Given the description of an element on the screen output the (x, y) to click on. 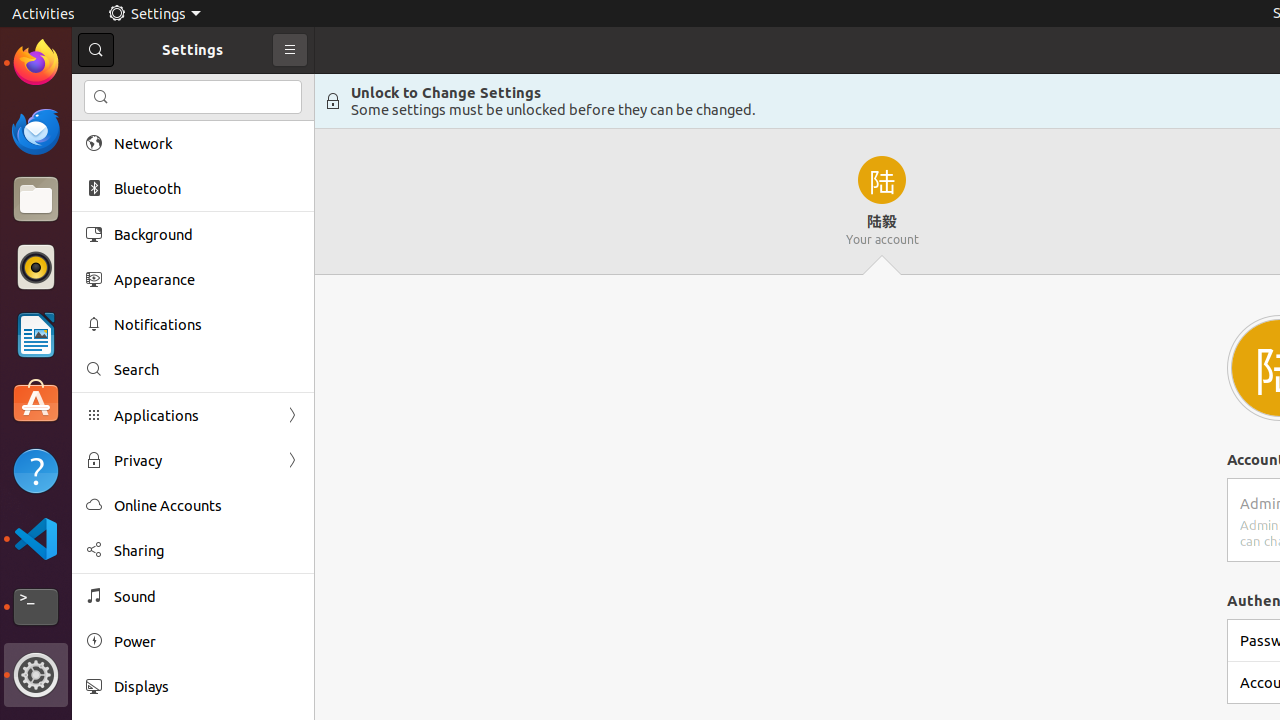
Applications Element type: label (193, 415)
edit-find-symbolic Element type: icon (101, 97)
Trash Element type: label (133, 191)
Settings Element type: push-button (36, 675)
